Given the description of an element on the screen output the (x, y) to click on. 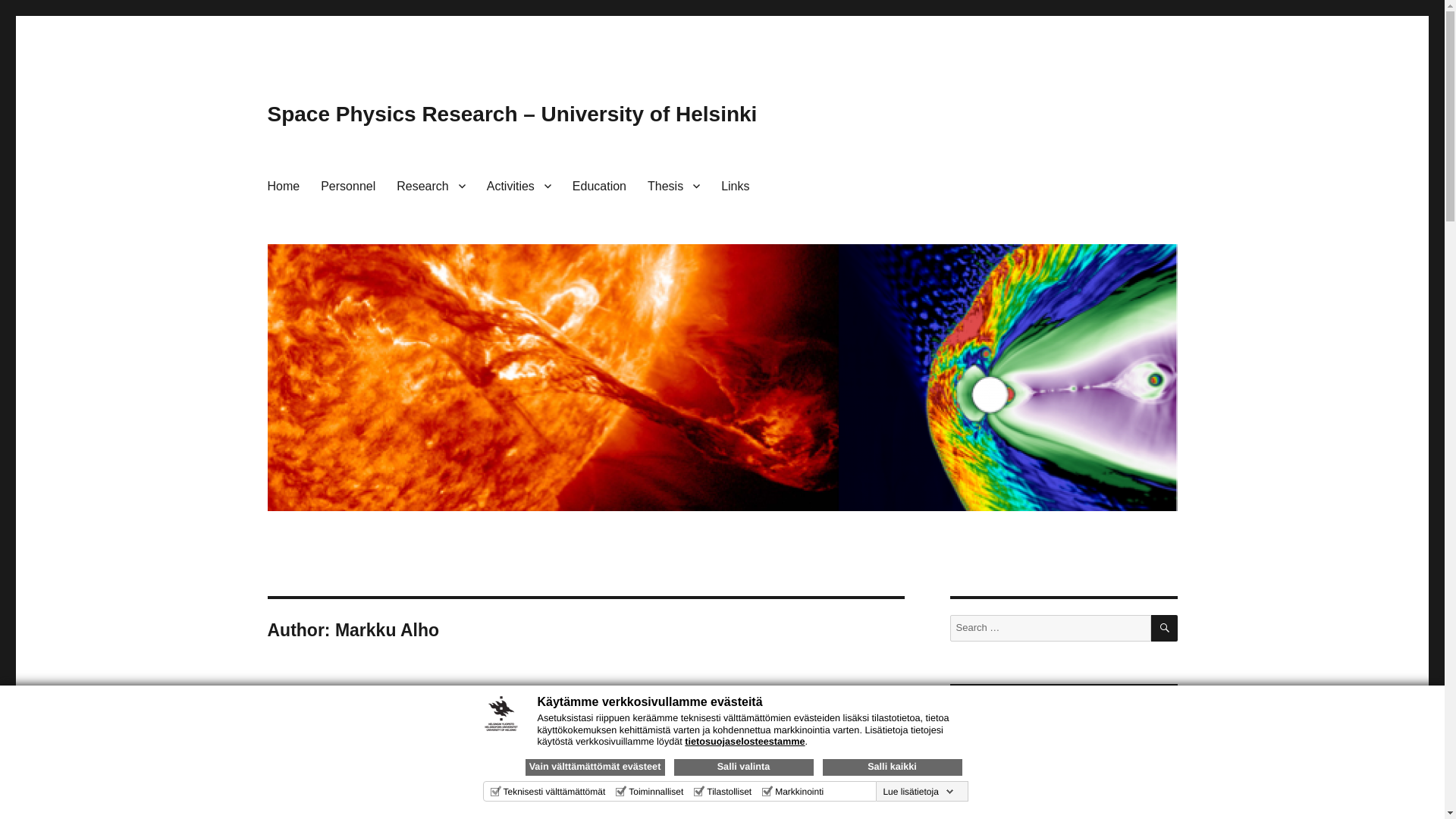
Salli valinta (742, 767)
tietosuojaselosteestamme (744, 741)
Salli kaikki (891, 767)
